Given the description of an element on the screen output the (x, y) to click on. 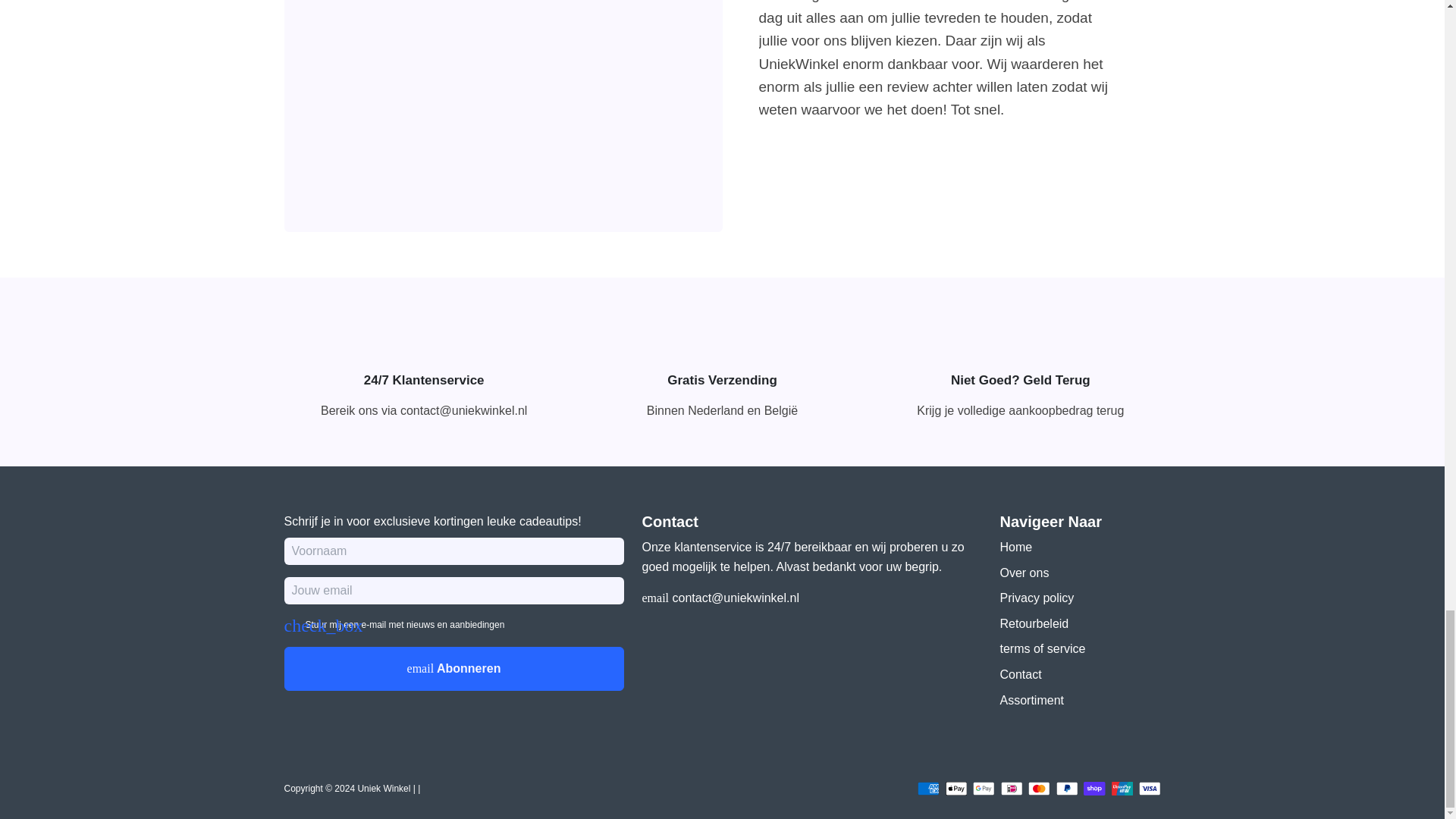
Visa (1149, 788)
American Express (928, 788)
Google Pay (983, 788)
Mastercard (1038, 788)
Union Pay (1122, 788)
iDEAL (1011, 788)
Shop Pay (1094, 788)
PayPal (1066, 788)
Apple Pay (955, 788)
